Given the description of an element on the screen output the (x, y) to click on. 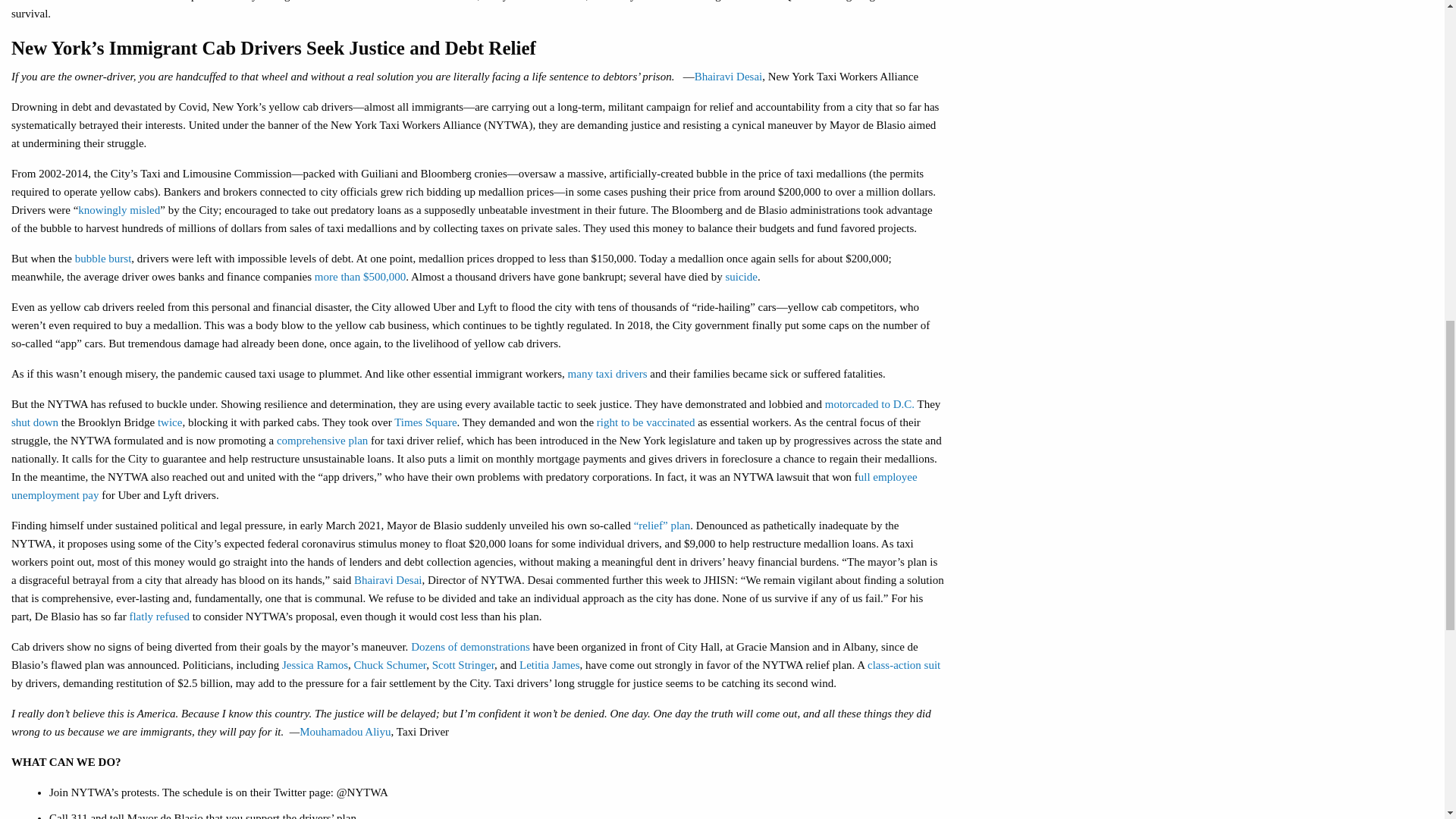
bubble burst (103, 258)
motorcaded to D.C. (869, 404)
suicide (741, 276)
knowingly misled (119, 209)
shut down (34, 422)
many taxi drivers (607, 373)
Bhairavi Desai (728, 76)
